Given the description of an element on the screen output the (x, y) to click on. 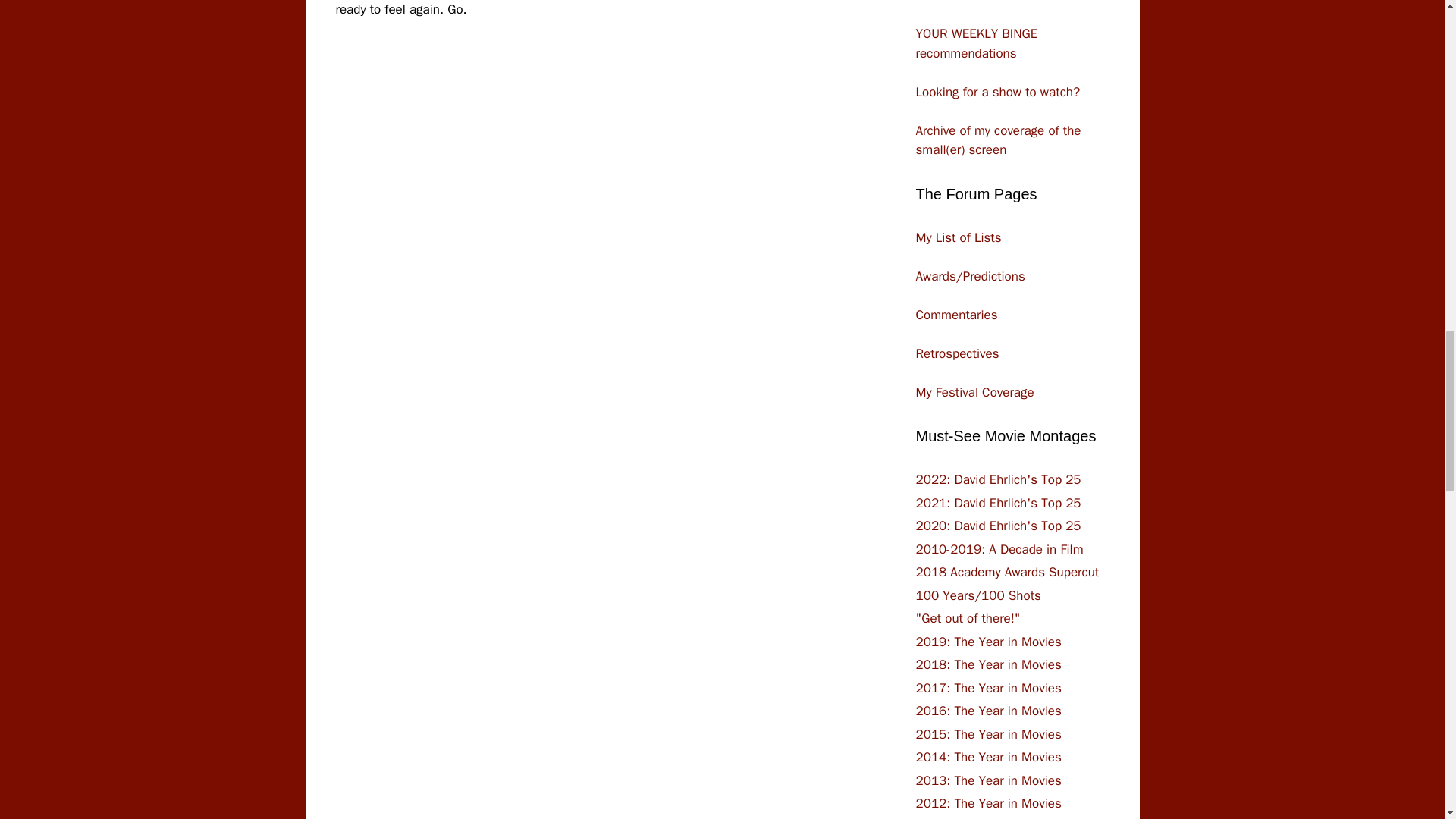
Retrospectives (956, 353)
Looking for a show to watch? (997, 91)
My Festival Coverage (974, 391)
Commentaries (956, 314)
My List of Lists (958, 236)
YOUR WEEKLY BINGE recommendations (976, 43)
